Given the description of an element on the screen output the (x, y) to click on. 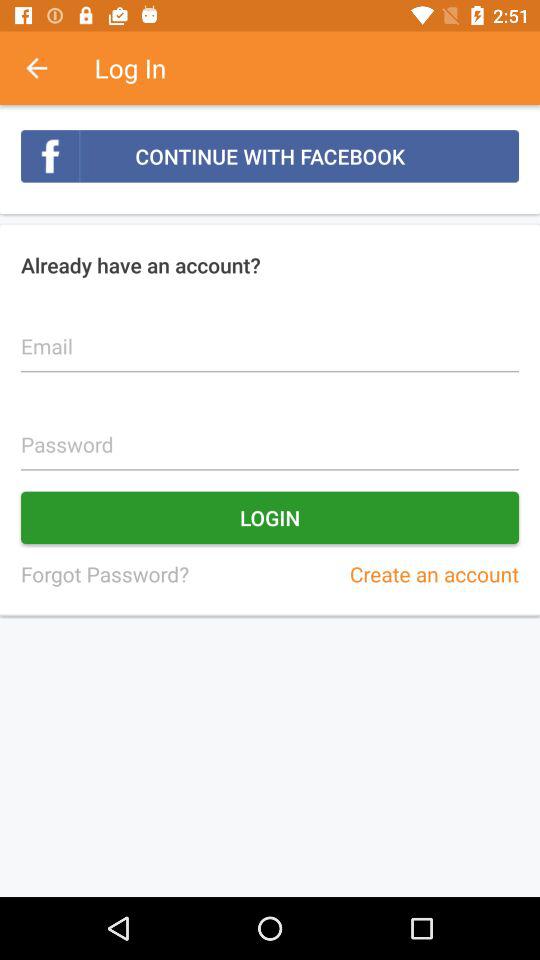
choose the icon below the login icon (104, 573)
